Given the description of an element on the screen output the (x, y) to click on. 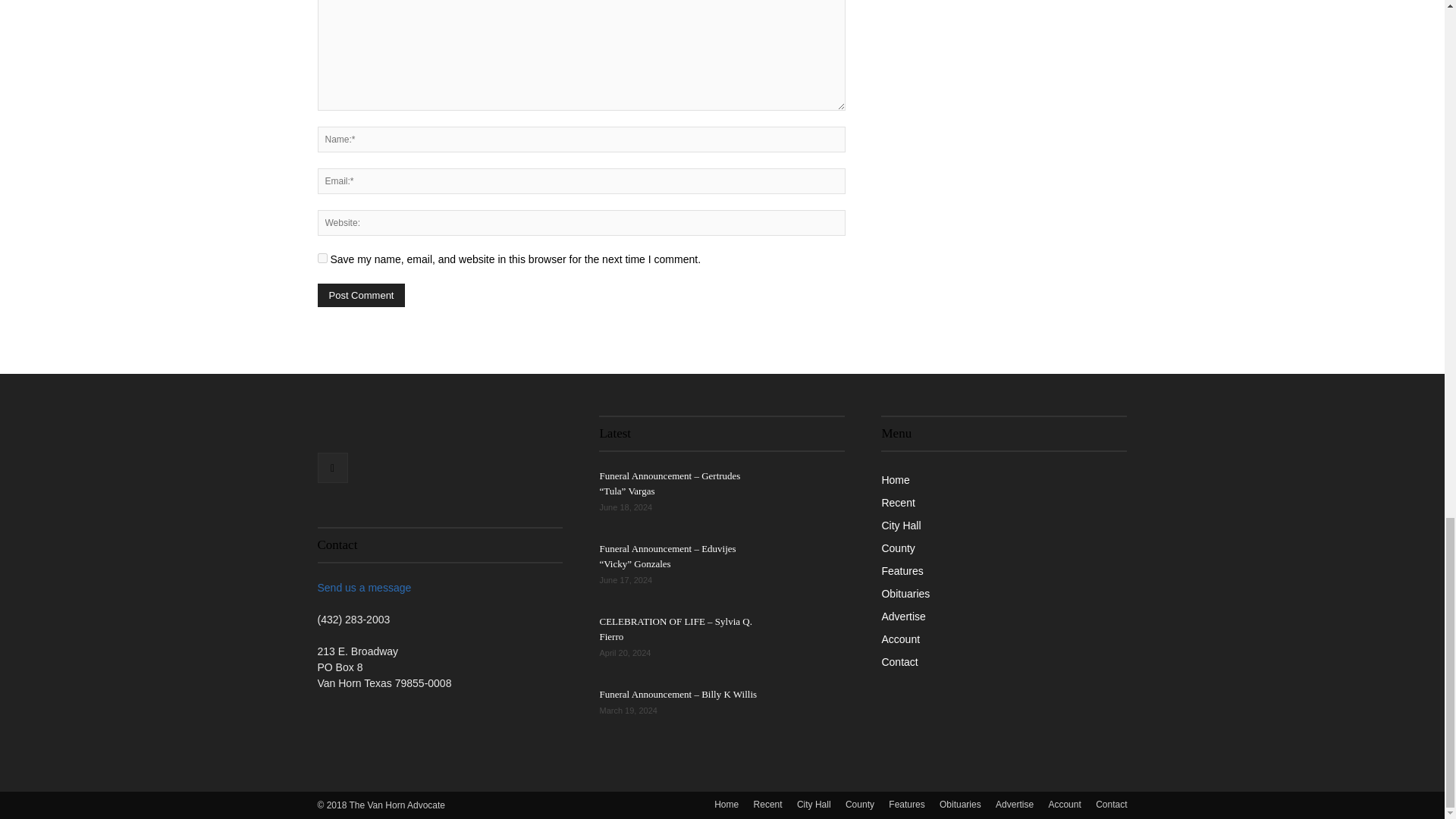
yes (321, 257)
Post Comment (360, 295)
Facebook (332, 467)
